Given the description of an element on the screen output the (x, y) to click on. 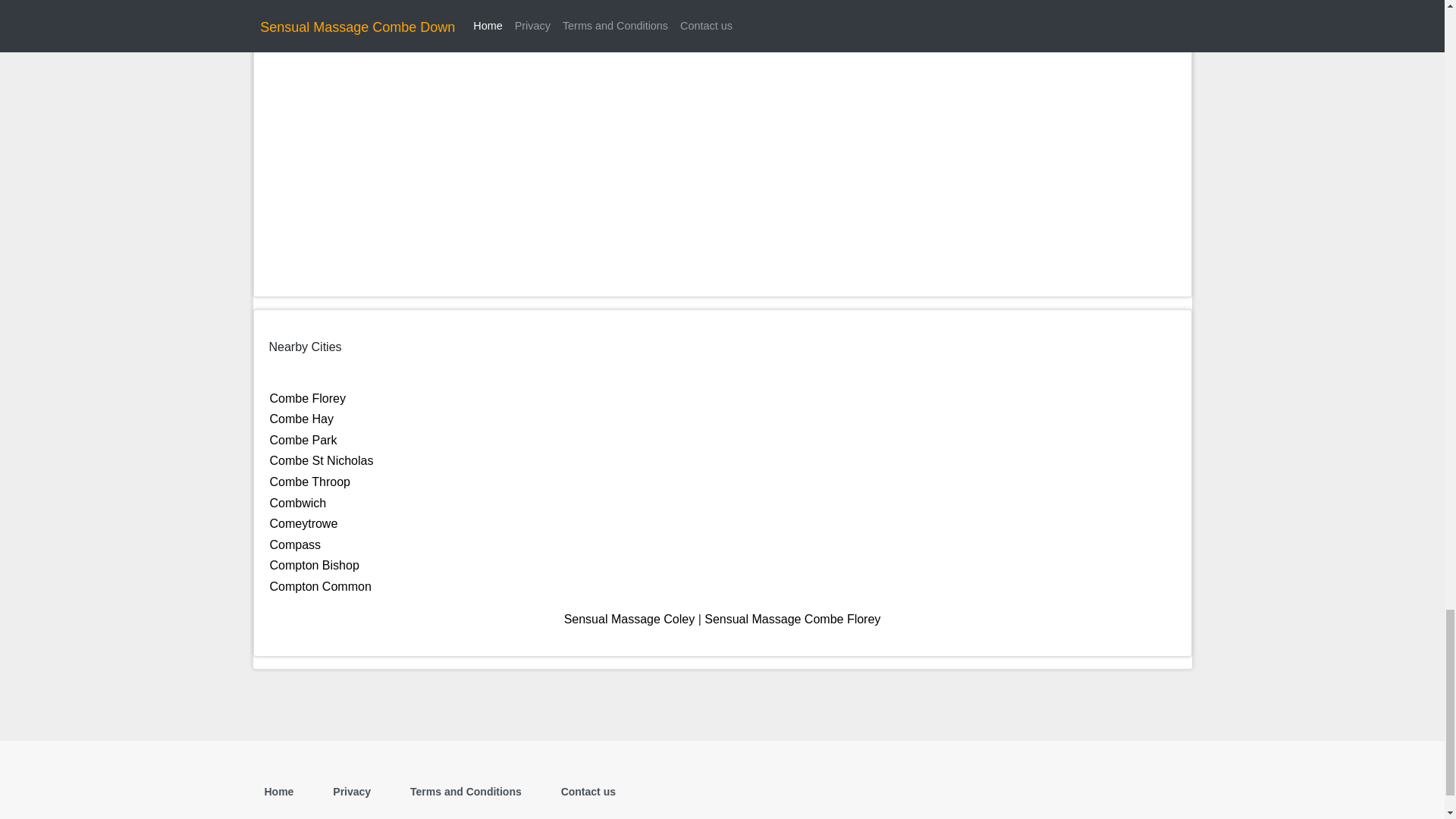
Combe Throop (309, 481)
Combwich (297, 502)
Compton Bishop (314, 564)
Combe Park (303, 440)
Comeytrowe (303, 522)
Sensual Massage Combe Florey (792, 618)
Compass (295, 544)
Combe Florey (307, 398)
Compton Common (320, 585)
Combe St Nicholas (321, 460)
